Given the description of an element on the screen output the (x, y) to click on. 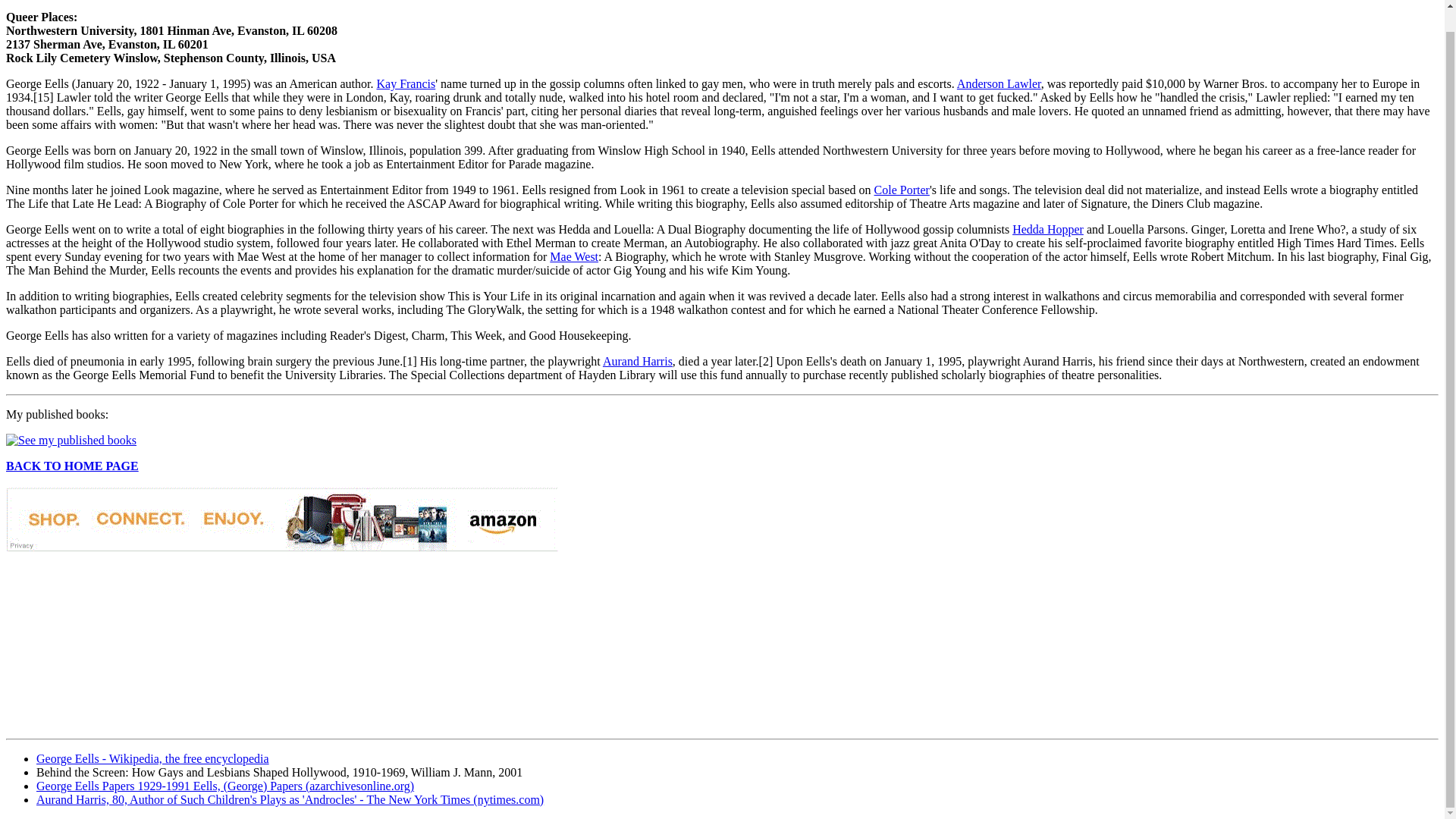
George Eells - Wikipedia, the free encyclopedia (152, 758)
Mae West (574, 256)
Cole Porter (902, 189)
Anderson Lawler (998, 83)
Kay Francis (405, 83)
Hedda Hopper (1047, 228)
See my published books (70, 440)
Aurand Harris (637, 360)
BACK TO HOME PAGE (71, 465)
